Given the description of an element on the screen output the (x, y) to click on. 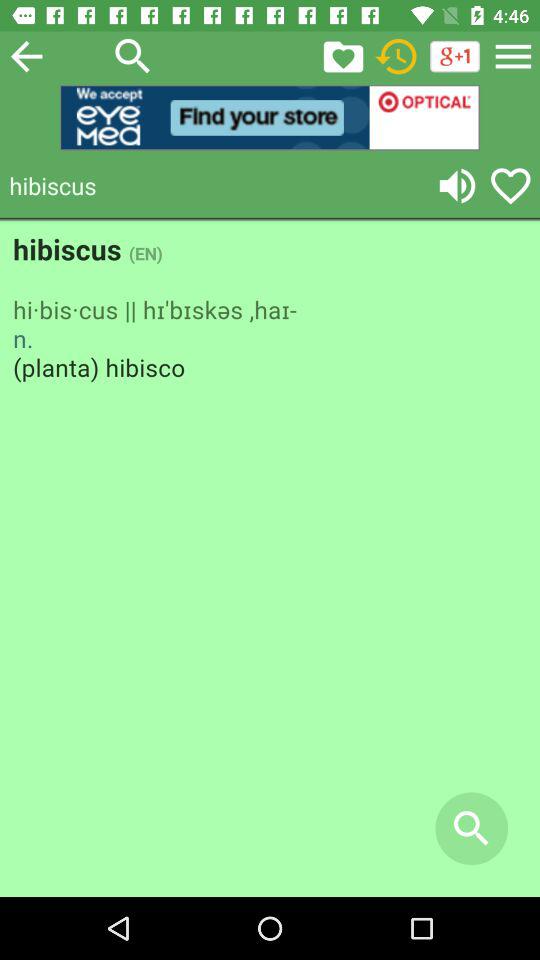
go to notification option (343, 56)
